Given the description of an element on the screen output the (x, y) to click on. 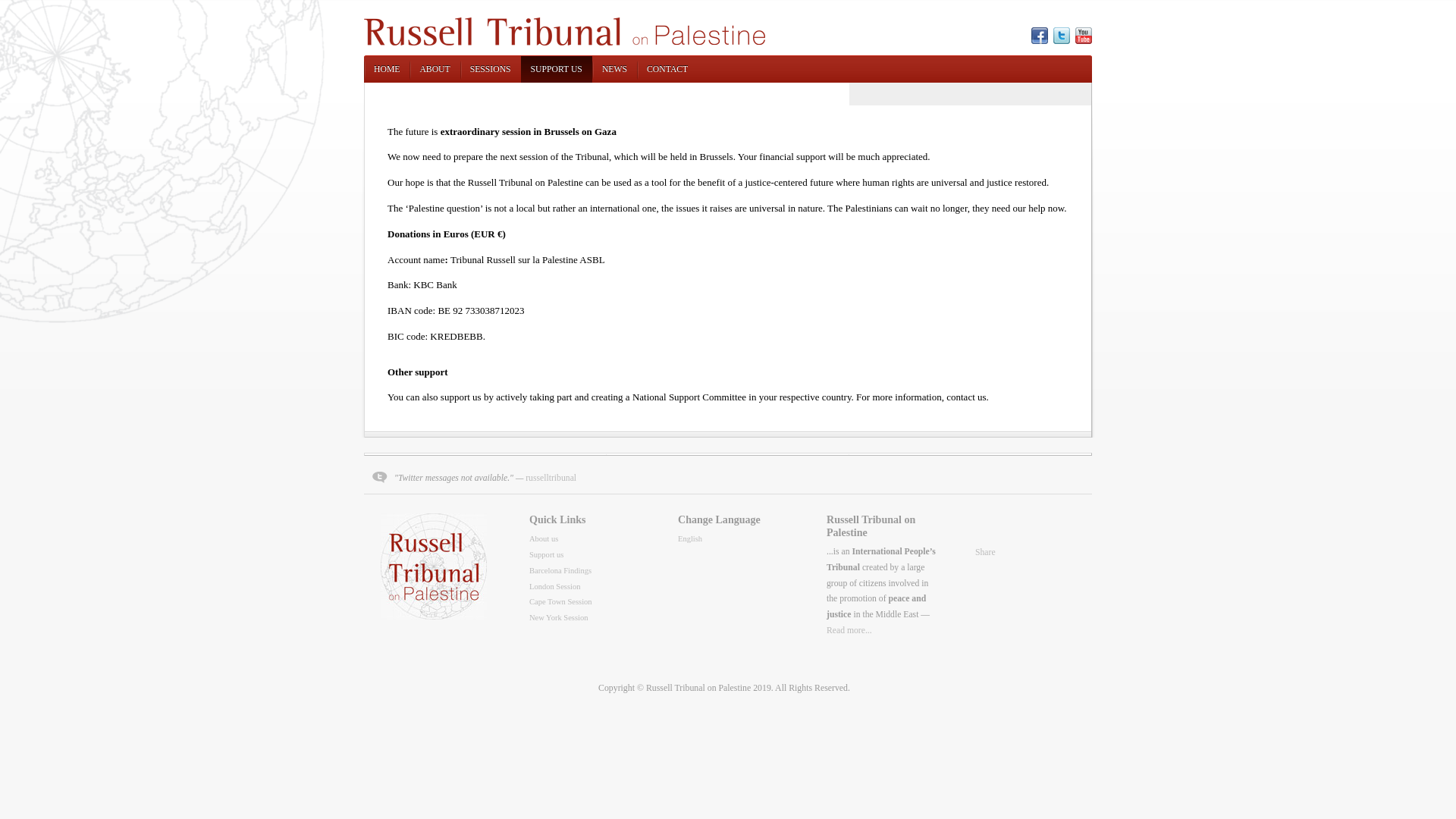
CONTACT Element type: text (667, 69)
Follow on Twitter Element type: hover (1061, 35)
ABOUT Element type: text (434, 69)
Visit our YouTube channel Element type: hover (1083, 35)
HOME Element type: text (386, 69)
NEWS Element type: text (614, 69)
Russell Tribunal on Palestine Element type: hover (564, 41)
New York Session Element type: text (558, 617)
russelltribunal Element type: text (550, 478)
English Element type: text (689, 538)
Share Element type: text (985, 552)
Russell Tribunal on Palestine - Home Element type: hover (433, 616)
Support us Element type: text (546, 554)
About us Element type: text (543, 538)
SUPPORT US Element type: text (556, 69)
Cape Town Session Element type: text (560, 601)
Read more... Element type: text (849, 630)
Barcelona Findings Element type: text (560, 570)
SESSIONS Element type: text (490, 69)
Russell Tribunal on Palestine Element type: text (698, 687)
Find us on Facebook Element type: hover (1039, 35)
London Session Element type: text (554, 586)
